Given the description of an element on the screen output the (x, y) to click on. 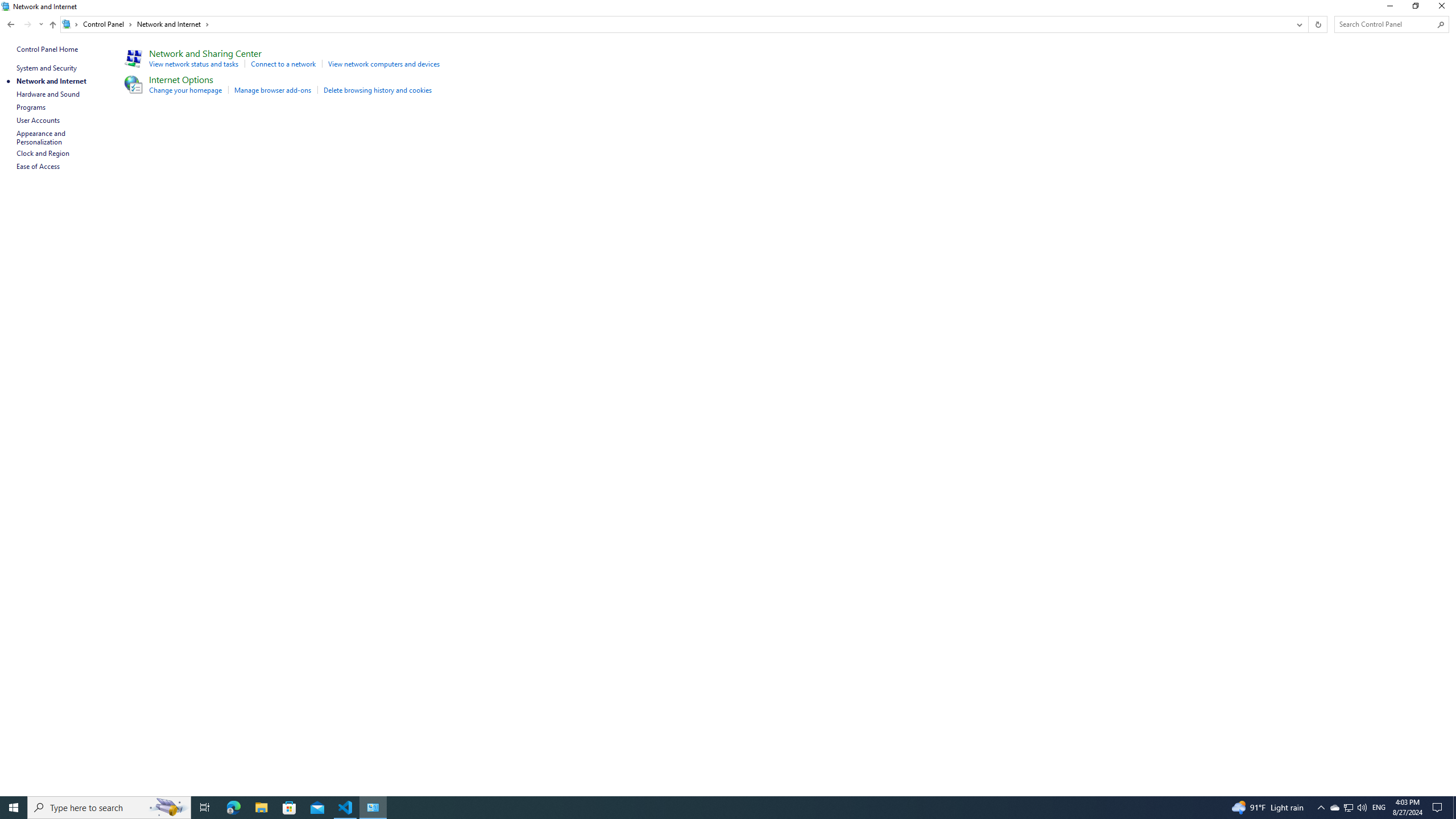
Connect to a network (282, 63)
Up to "Control Panel" (Alt + Up Arrow) (52, 24)
Minimize (1388, 8)
Up band toolbar (52, 26)
Address band toolbar (1308, 23)
Internet Options (181, 79)
Search Box (1386, 23)
System (6, 6)
Clock and Region (42, 153)
